Given the description of an element on the screen output the (x, y) to click on. 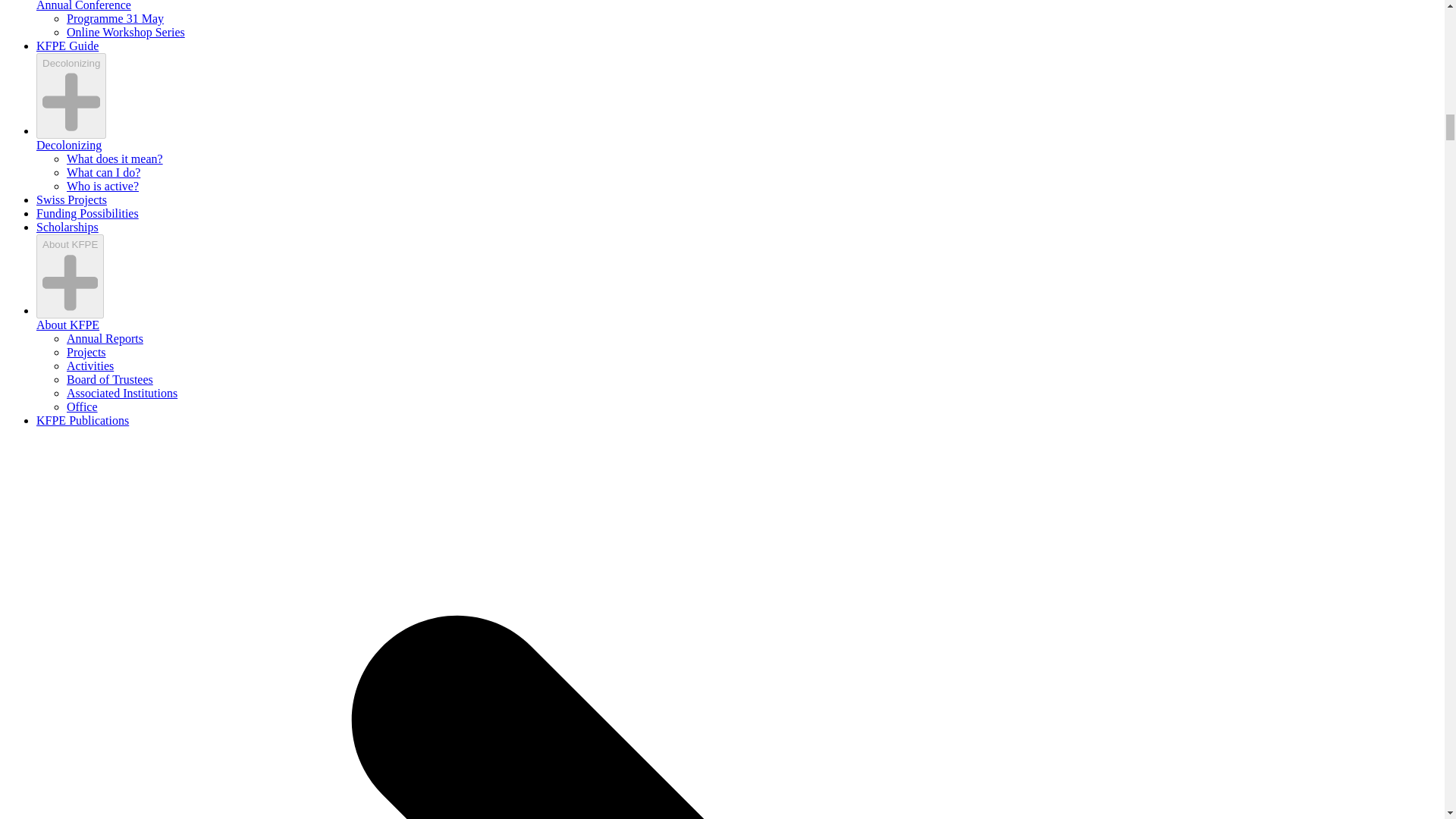
Programme 31 May (114, 18)
Who is active? (102, 185)
What does it mean? (114, 158)
Associated Institutions (121, 392)
What can I do? (102, 172)
KFPE Guide (67, 45)
About KFPE (67, 324)
Scholarships (67, 226)
Projects (86, 351)
Board of Trustees (109, 379)
Swiss Projects (71, 199)
Annual Reports (104, 338)
Online Workshop Series (125, 31)
Activities (89, 365)
Decolonizing (68, 144)
